Given the description of an element on the screen output the (x, y) to click on. 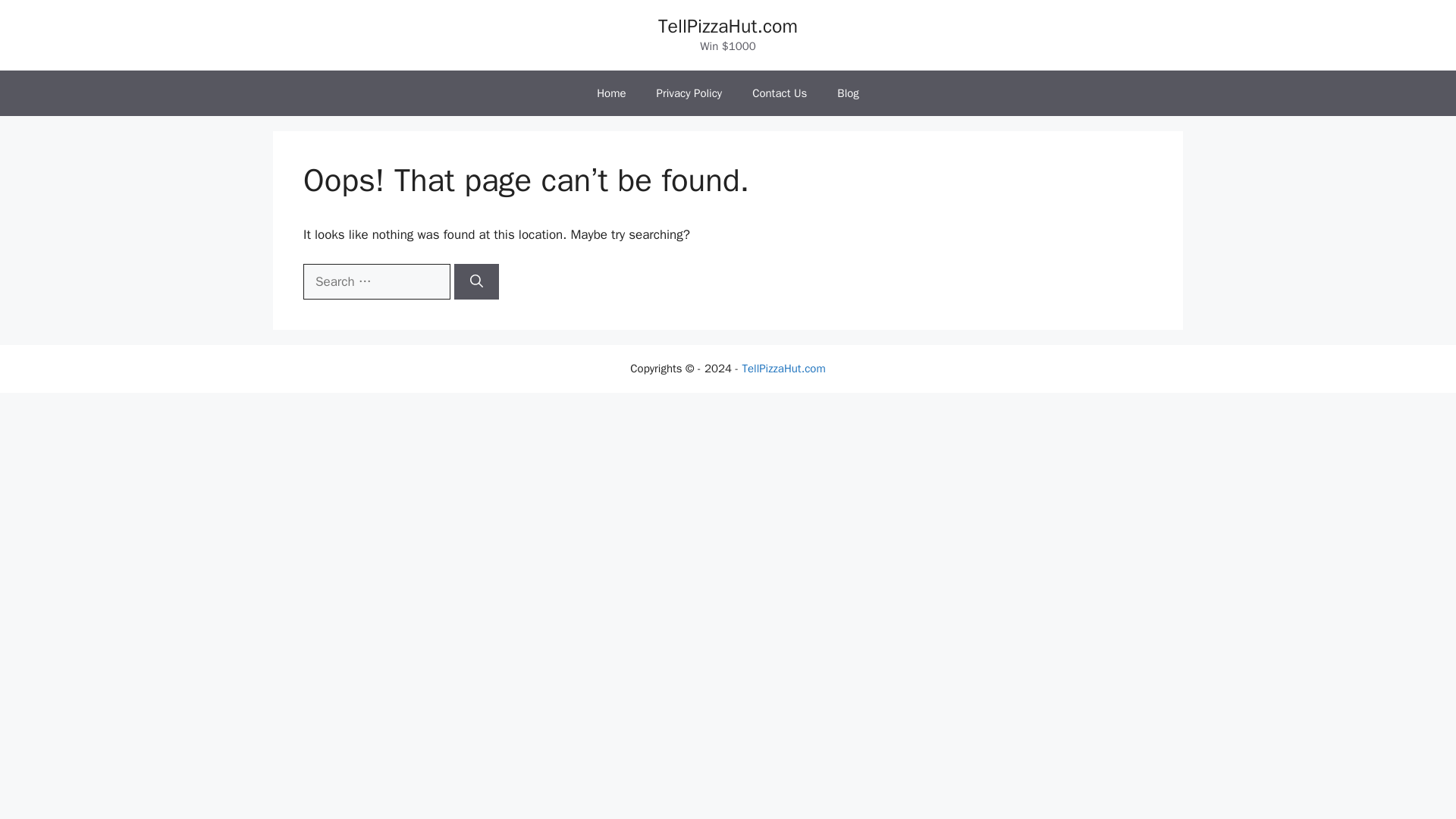
Blog (847, 92)
Home (610, 92)
Search for: (375, 281)
TellPizzaHut.com (727, 25)
Contact Us (779, 92)
TellPizzaHut.com (783, 368)
Privacy Policy (690, 92)
